Given the description of an element on the screen output the (x, y) to click on. 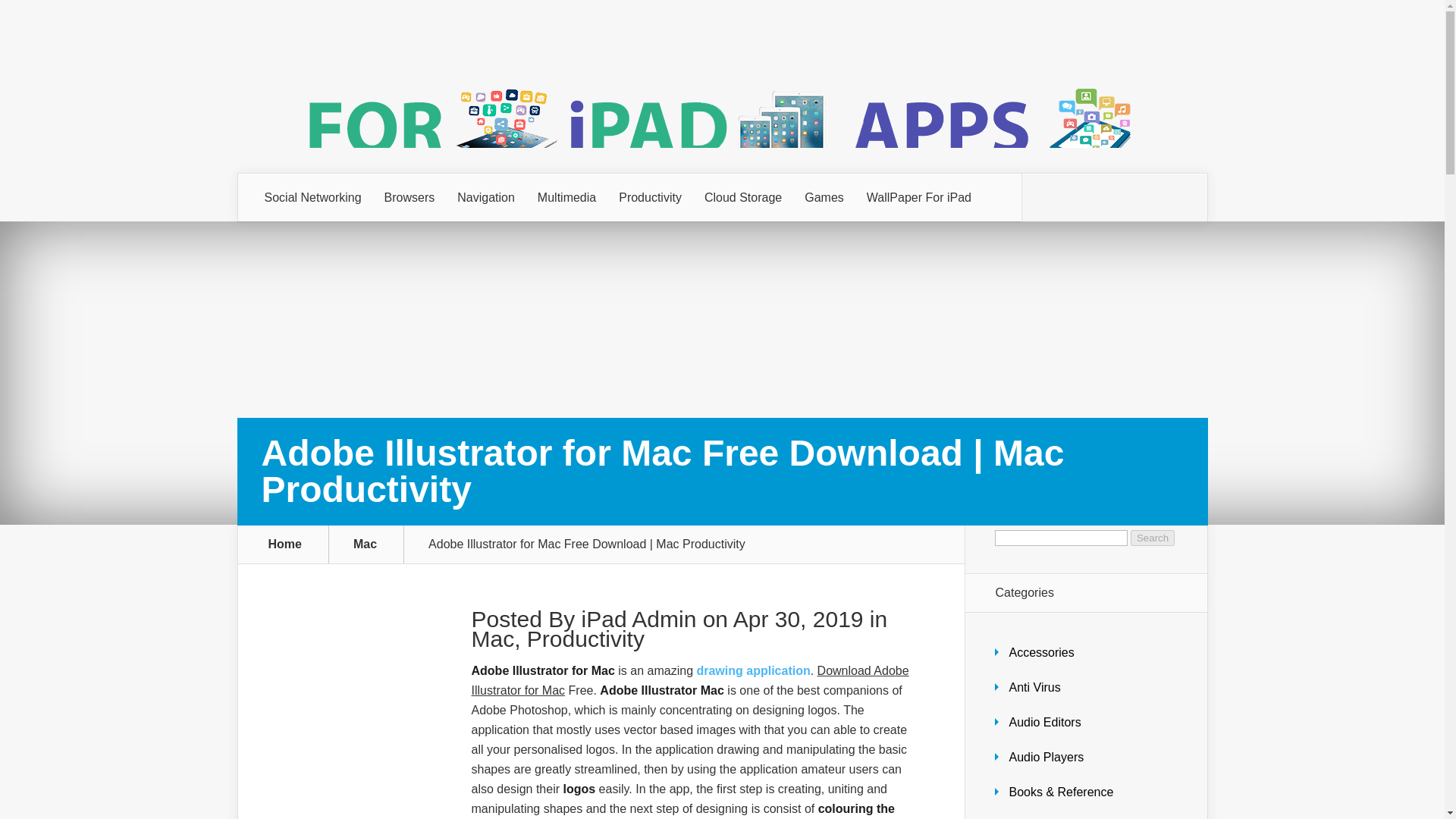
Search (1152, 537)
iPad Admin (638, 618)
Browsers (409, 197)
WallPaper For iPad (919, 197)
Games (824, 197)
Anti Virus (1034, 686)
Mac (493, 638)
Accessories (1041, 652)
Mac (373, 544)
Social Networking (312, 197)
